Given the description of an element on the screen output the (x, y) to click on. 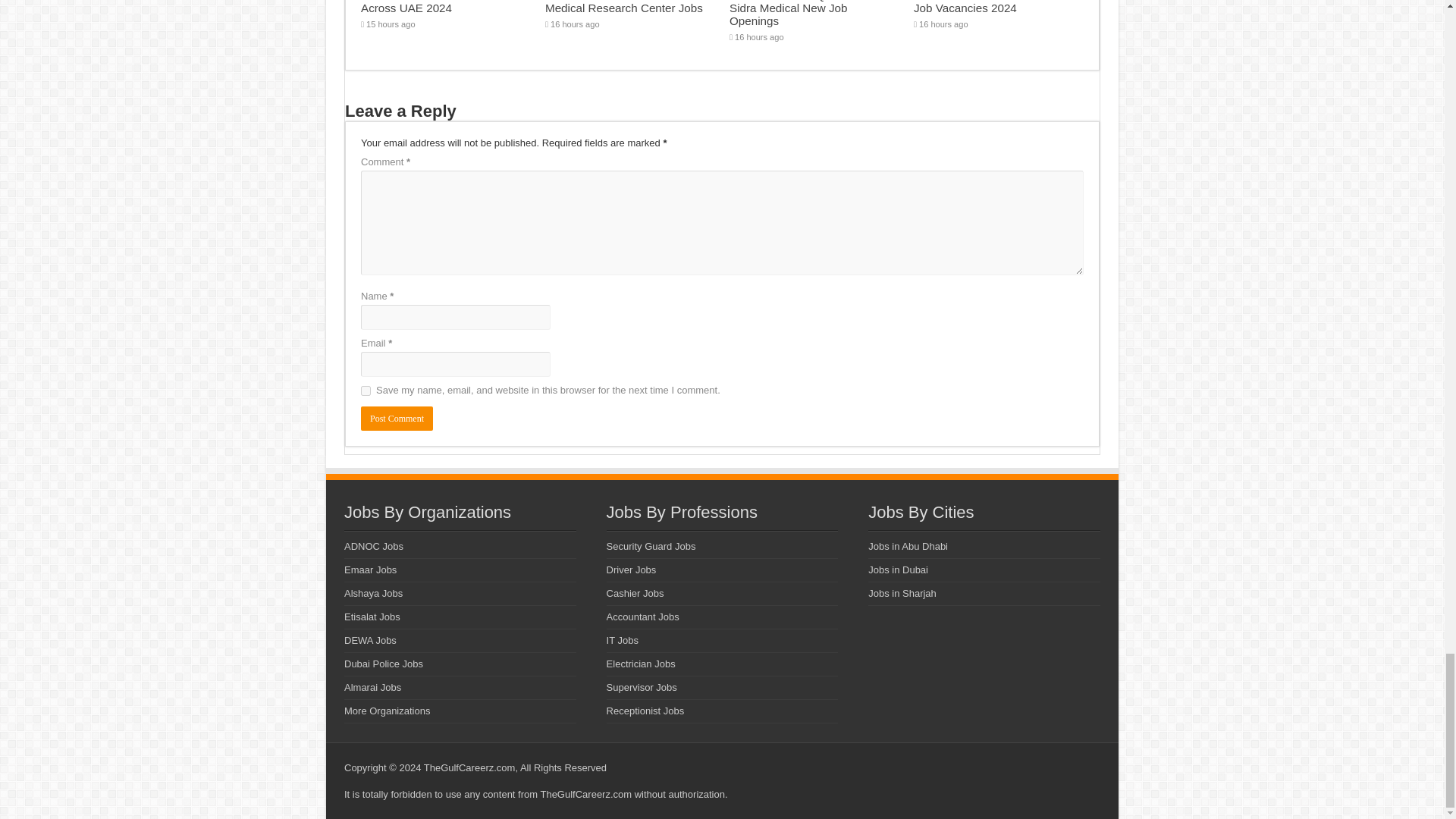
Post Comment (396, 418)
yes (366, 390)
